Given the description of an element on the screen output the (x, y) to click on. 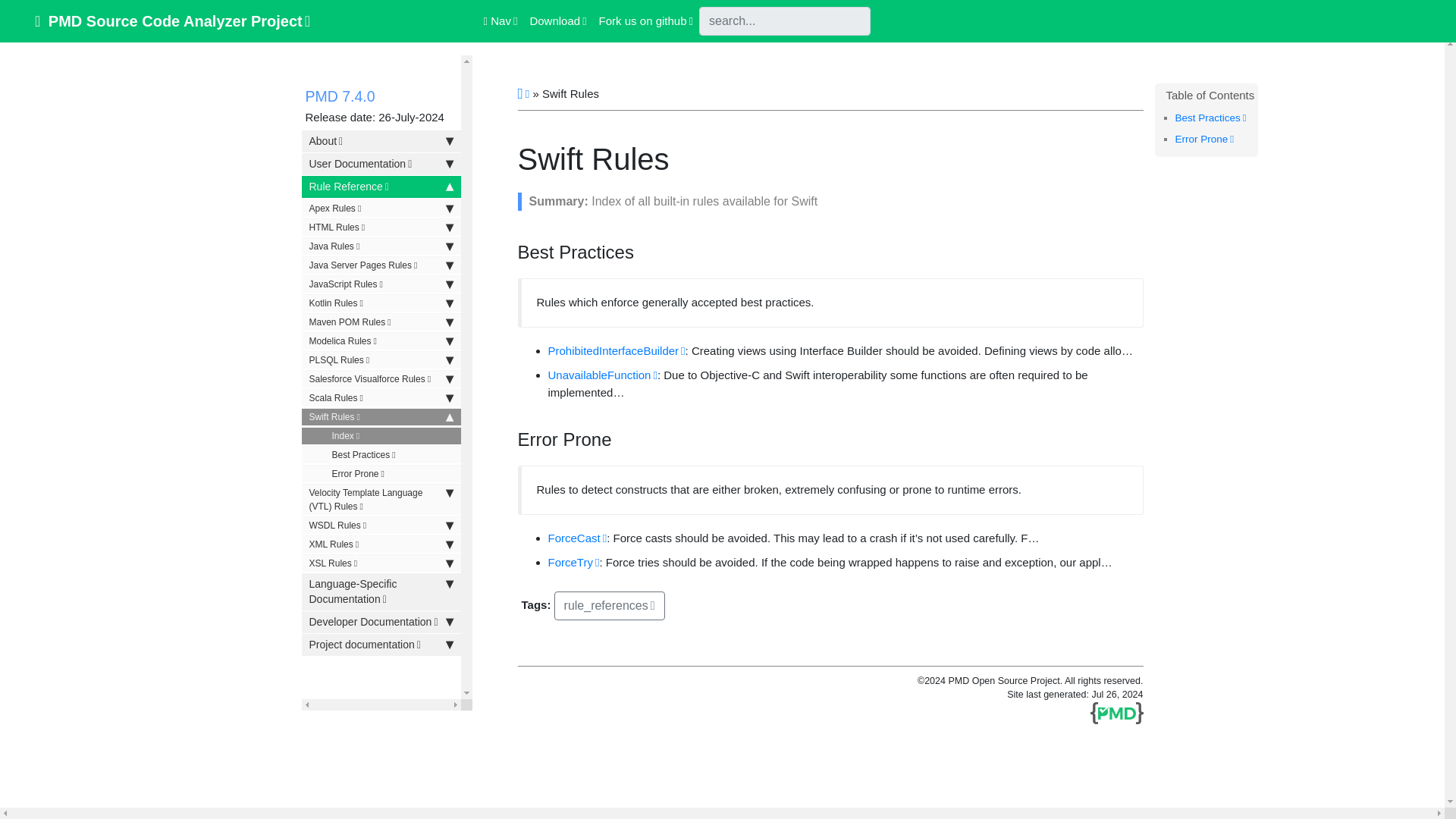
Nav (500, 21)
About (381, 141)
Download (557, 21)
Fork us on github (645, 21)
  PMD Source Code Analyzer Project (172, 20)
User Documentation (381, 164)
